Given the description of an element on the screen output the (x, y) to click on. 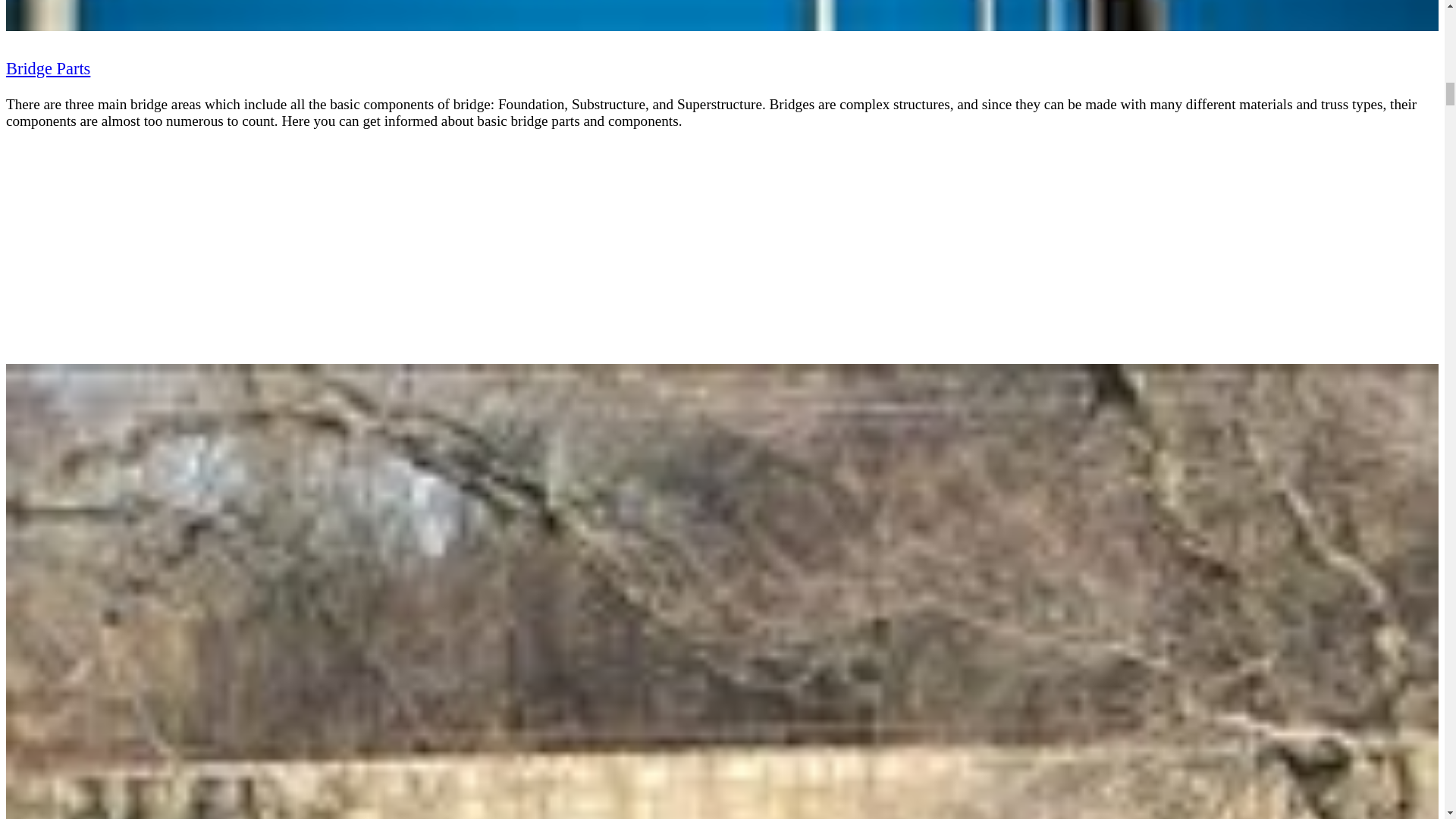
Bridge Parts (47, 67)
